Given the description of an element on the screen output the (x, y) to click on. 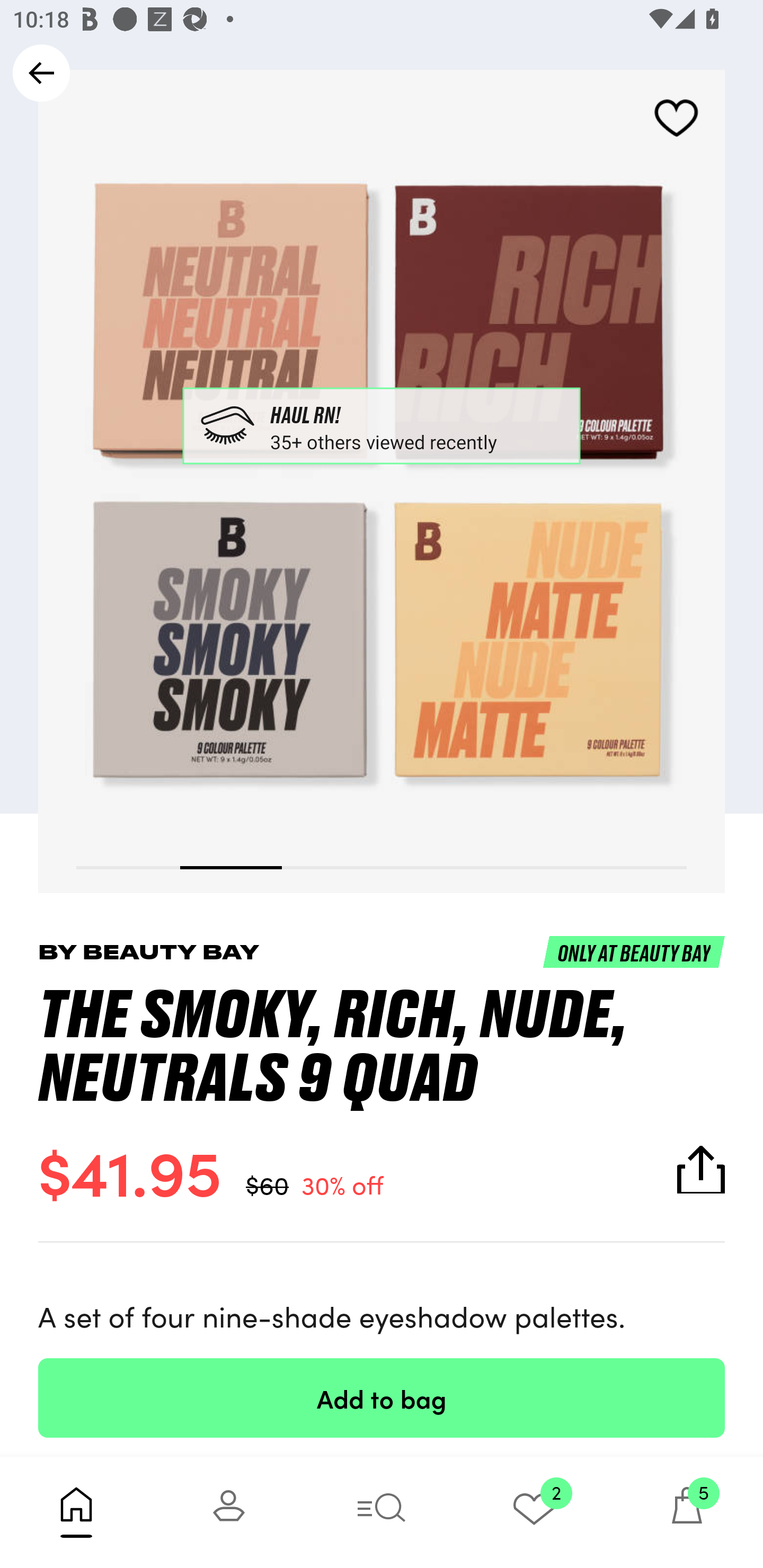
Add to bag (381, 1397)
2 (533, 1512)
5 (686, 1512)
